Given the description of an element on the screen output the (x, y) to click on. 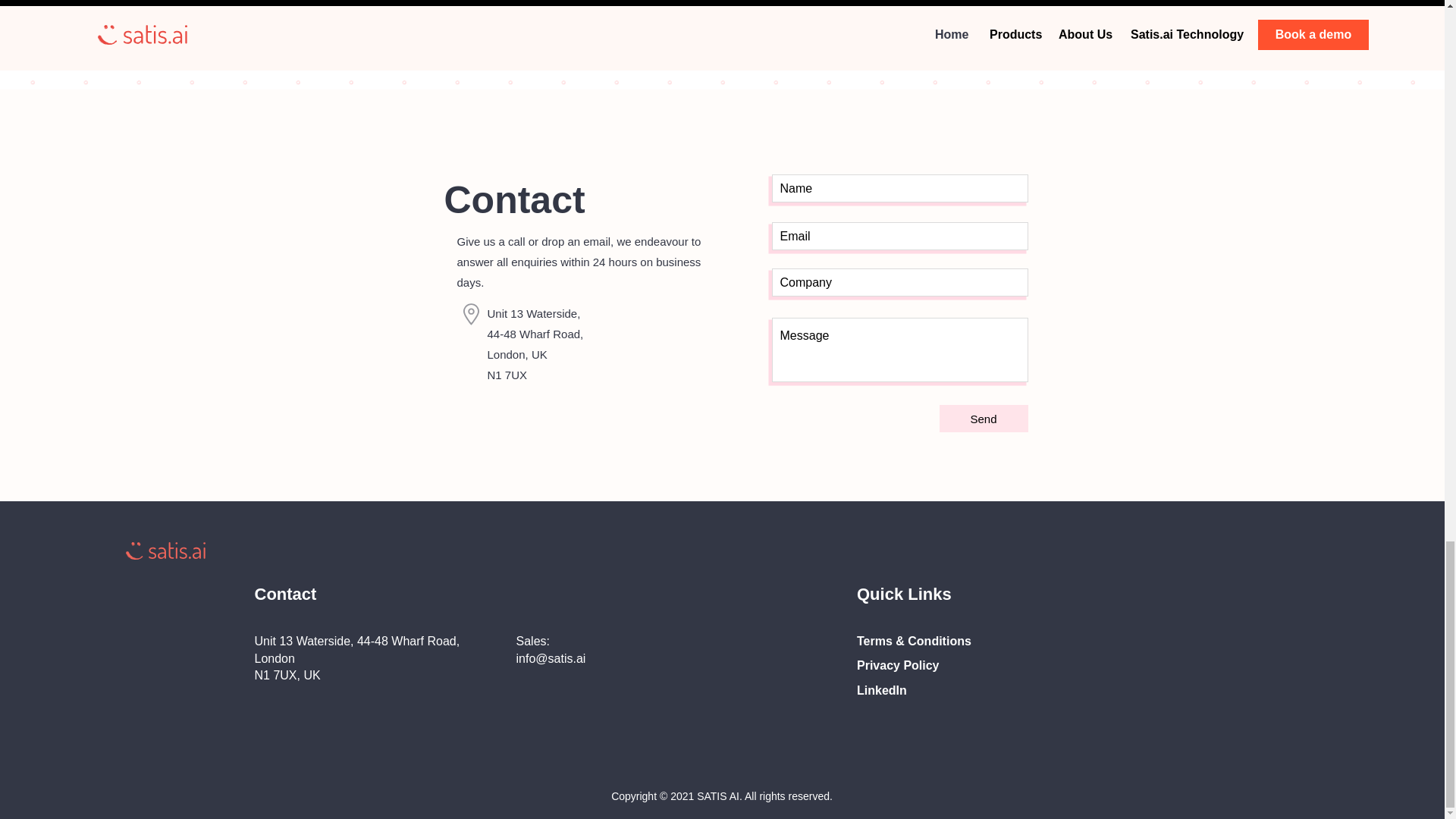
Send (983, 418)
LinkedIn (882, 689)
Learn More (713, 25)
